Given the description of an element on the screen output the (x, y) to click on. 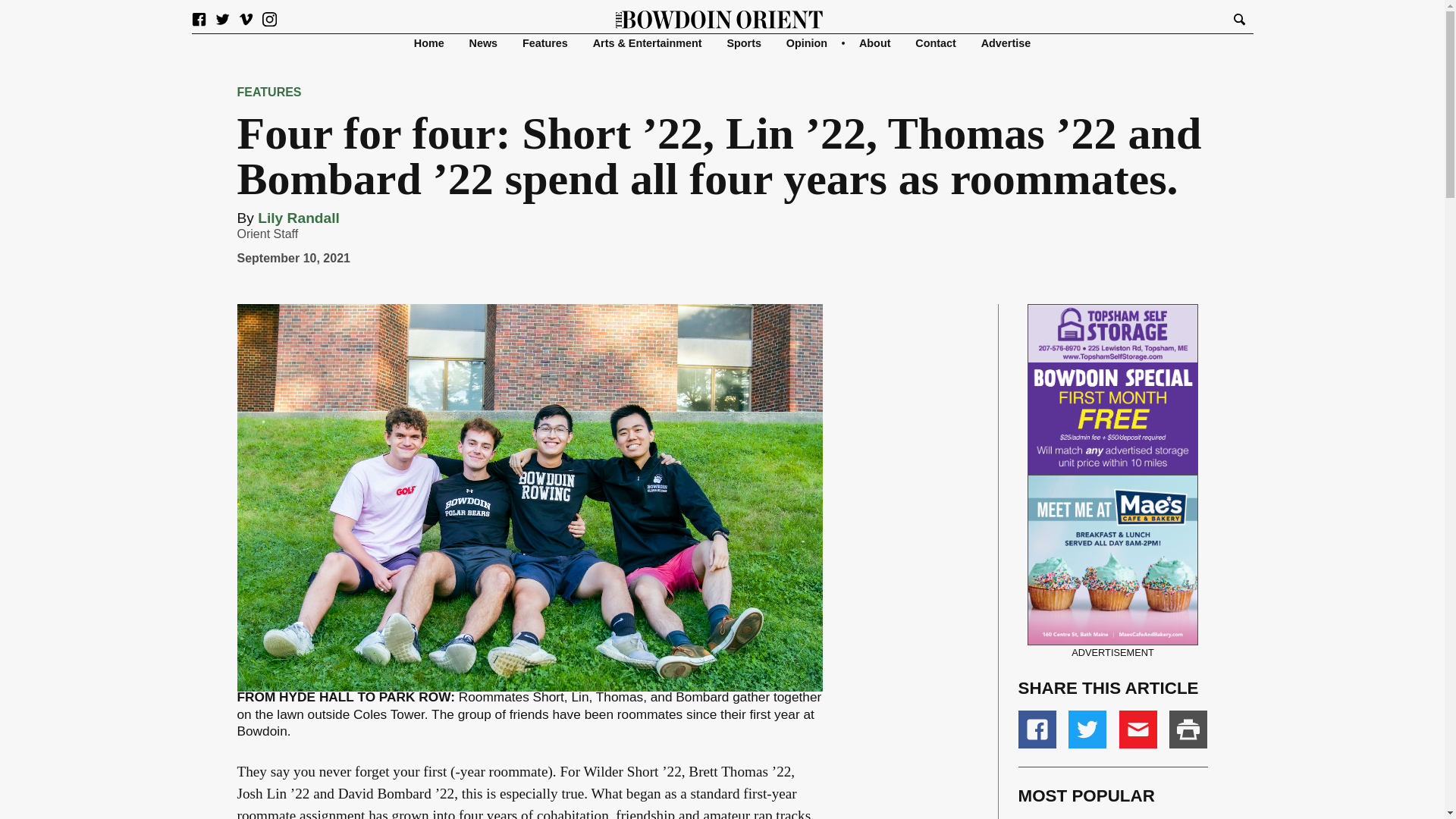
News (482, 42)
Advertise (1005, 42)
Contact (935, 42)
FEATURES (268, 91)
Features (544, 42)
Share on Facebook (1036, 729)
Opinion (806, 42)
Home (428, 42)
The Bowdoin Orient - Home (719, 18)
Share on Twitter (1087, 729)
